Given the description of an element on the screen output the (x, y) to click on. 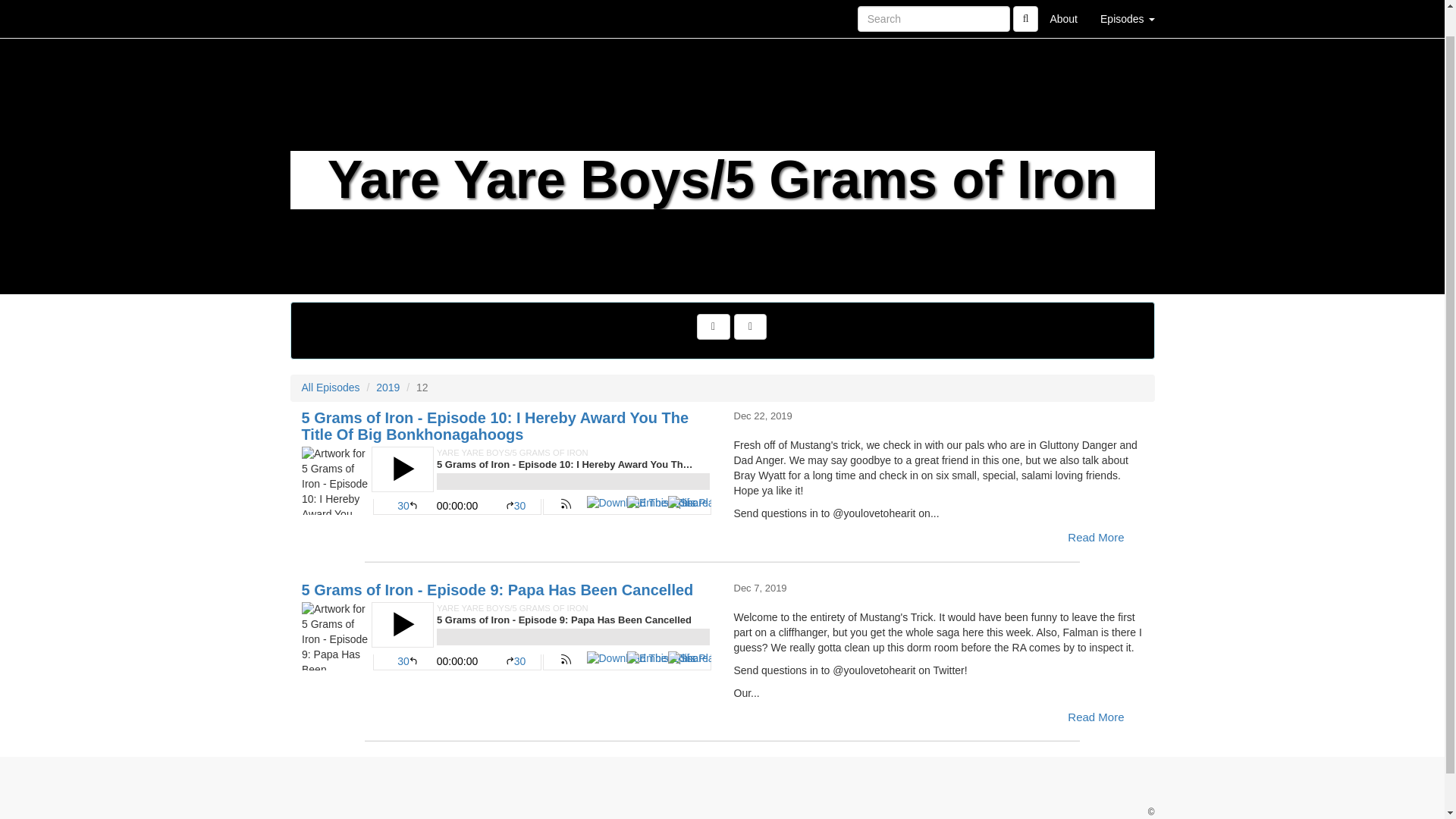
Home Page (320, 4)
Episodes (1127, 4)
5 Grams of Iron - Episode 9: Papa Has Been Cancelled (506, 635)
About (1063, 4)
